Given the description of an element on the screen output the (x, y) to click on. 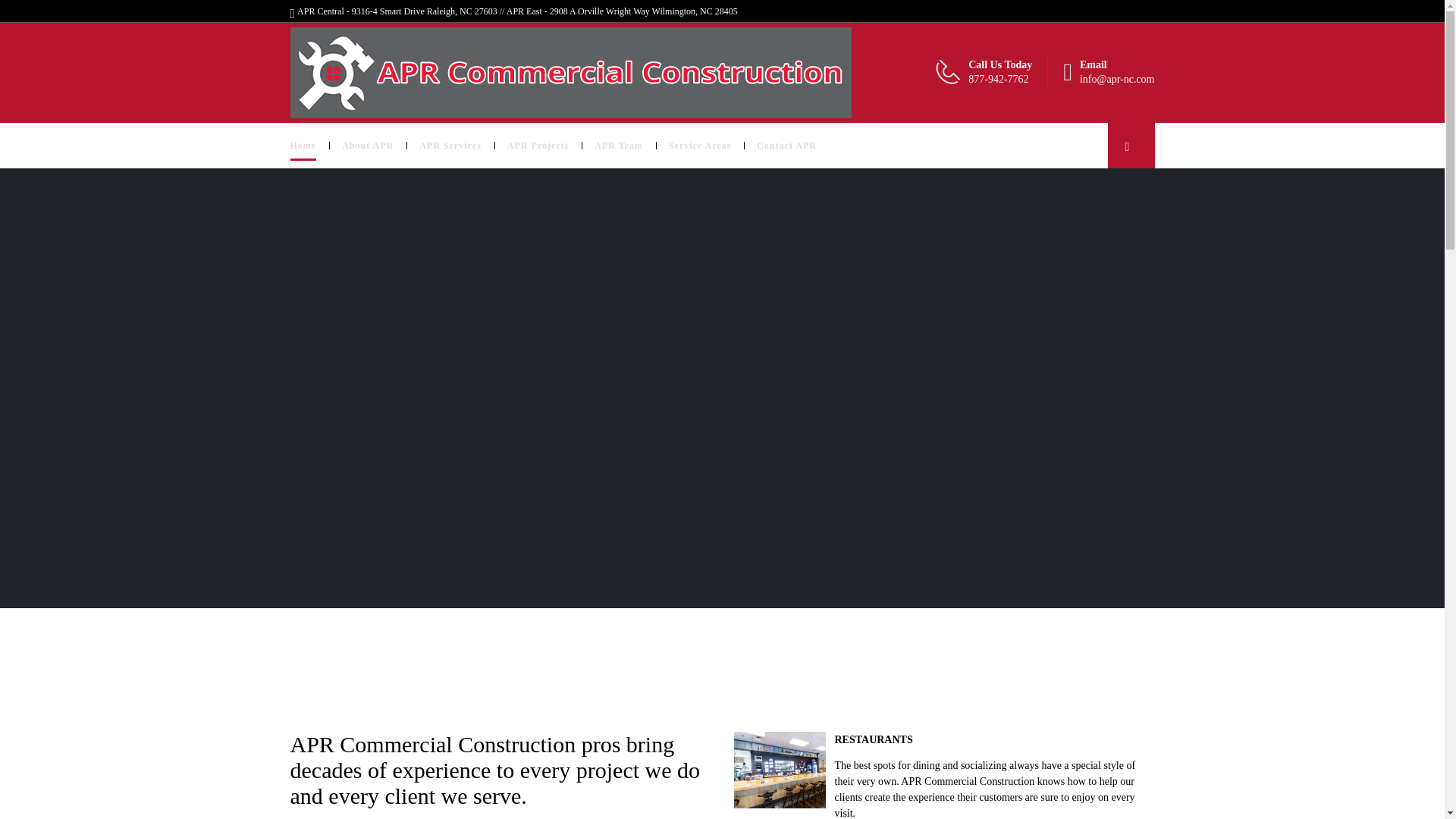
Service Areas (700, 145)
Contact APR (786, 145)
APR Services (450, 145)
APR Team (618, 145)
About APR (367, 145)
APR Projects (537, 145)
